Given the description of an element on the screen output the (x, y) to click on. 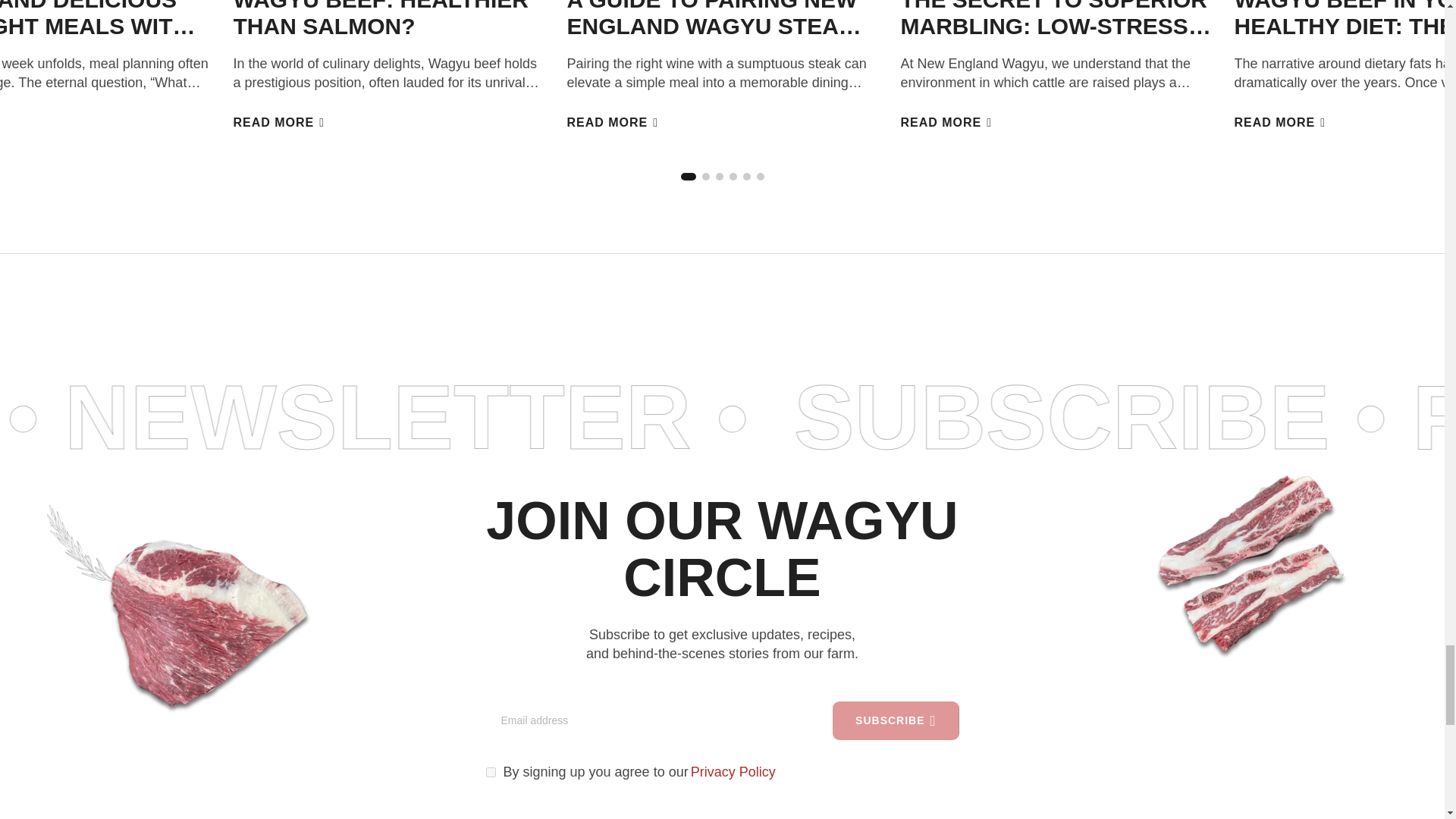
1 (489, 772)
